Given the description of an element on the screen output the (x, y) to click on. 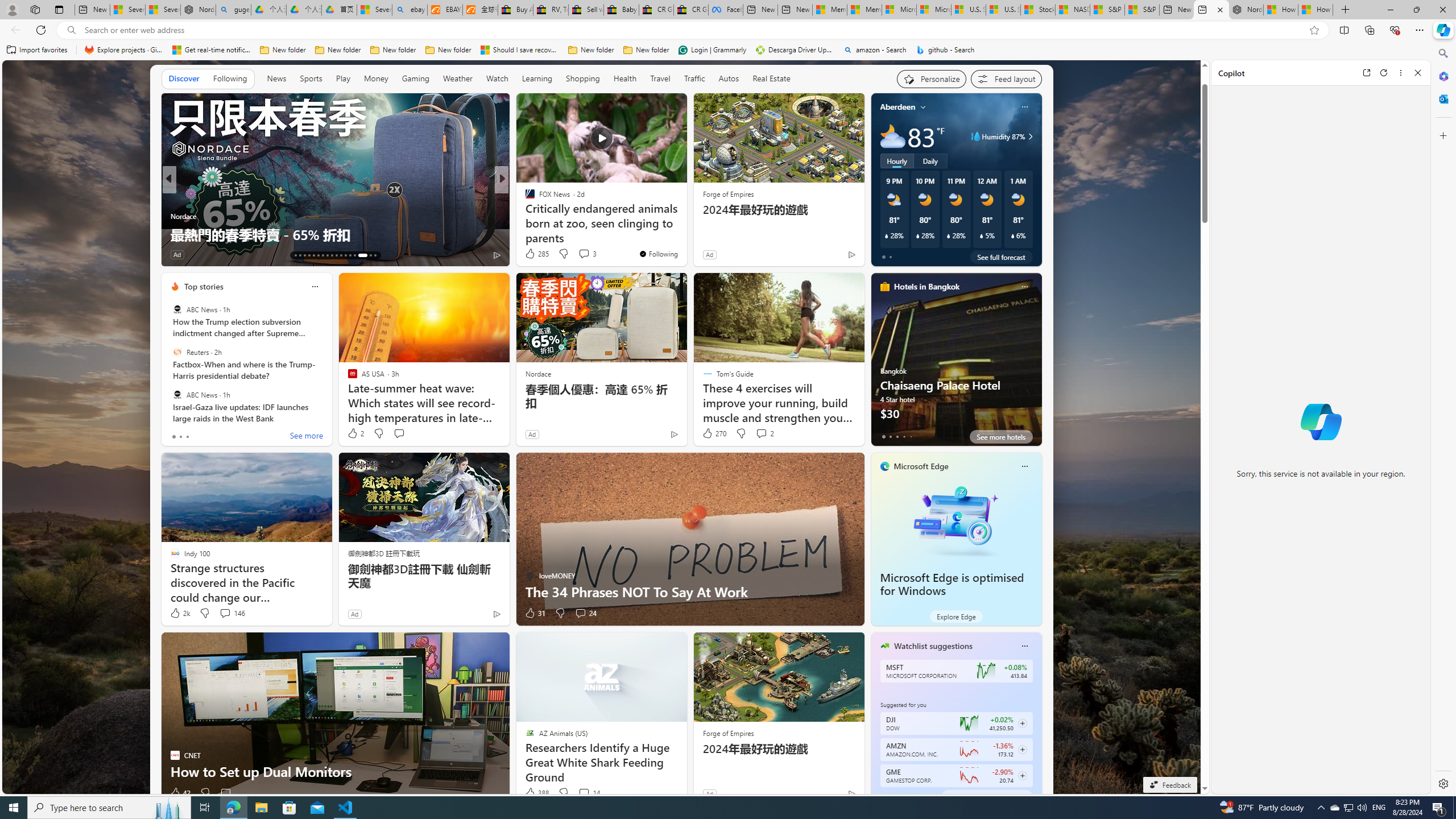
Hourly (896, 160)
Login | Grammarly (712, 49)
Weather (457, 78)
Side bar (1443, 418)
tab-3 (903, 795)
Start the conversation (225, 792)
View comments 3 Comment (583, 253)
Microsoft Edge is optimised for Windows (955, 519)
AutomationID: tab-25 (349, 255)
Restore (1416, 9)
guge yunpan - Search (233, 9)
News (277, 79)
See full forecast (1000, 256)
